Given the description of an element on the screen output the (x, y) to click on. 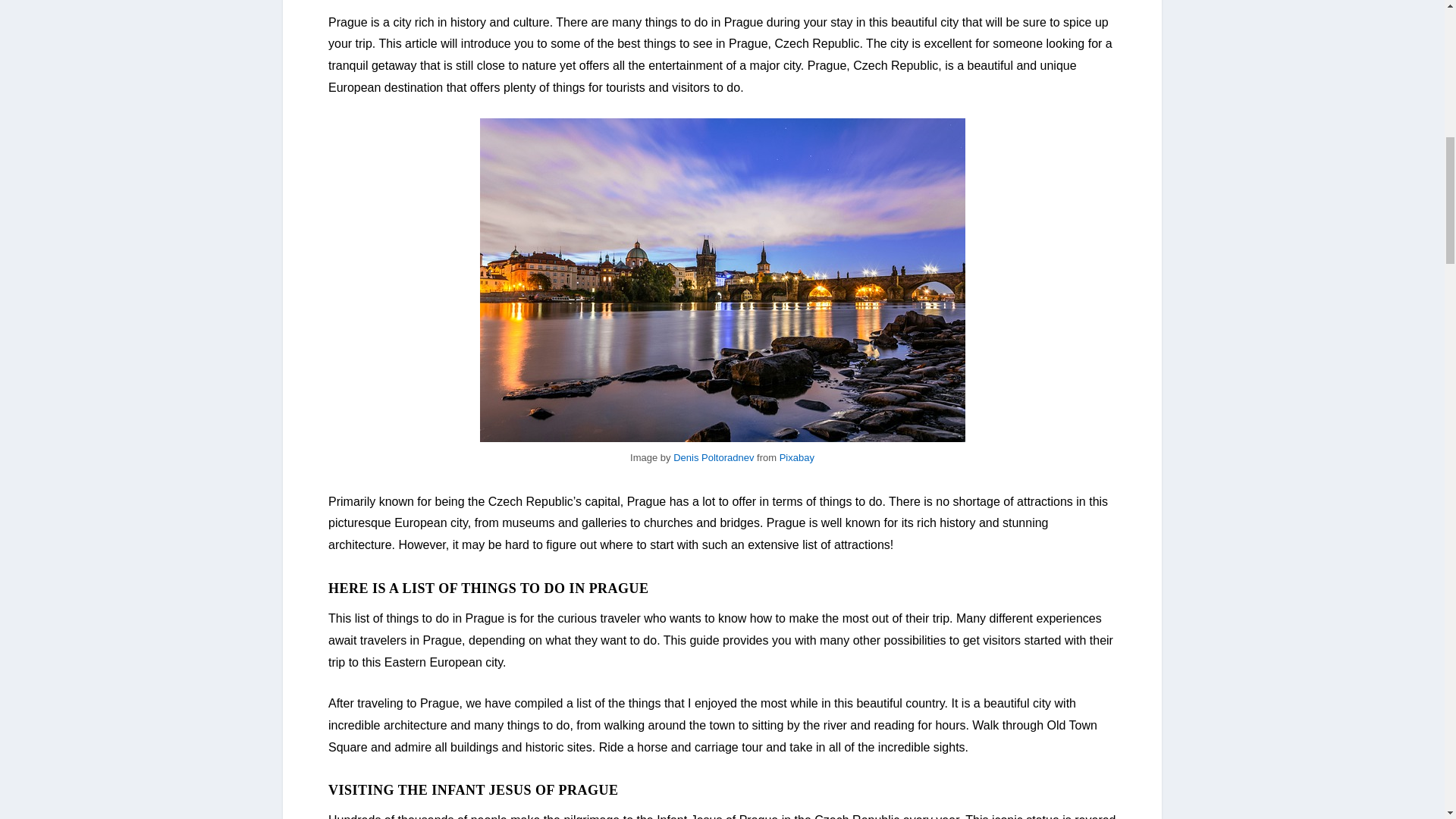
Pixabay (795, 457)
Denis Poltoradnev (713, 457)
